Given the description of an element on the screen output the (x, y) to click on. 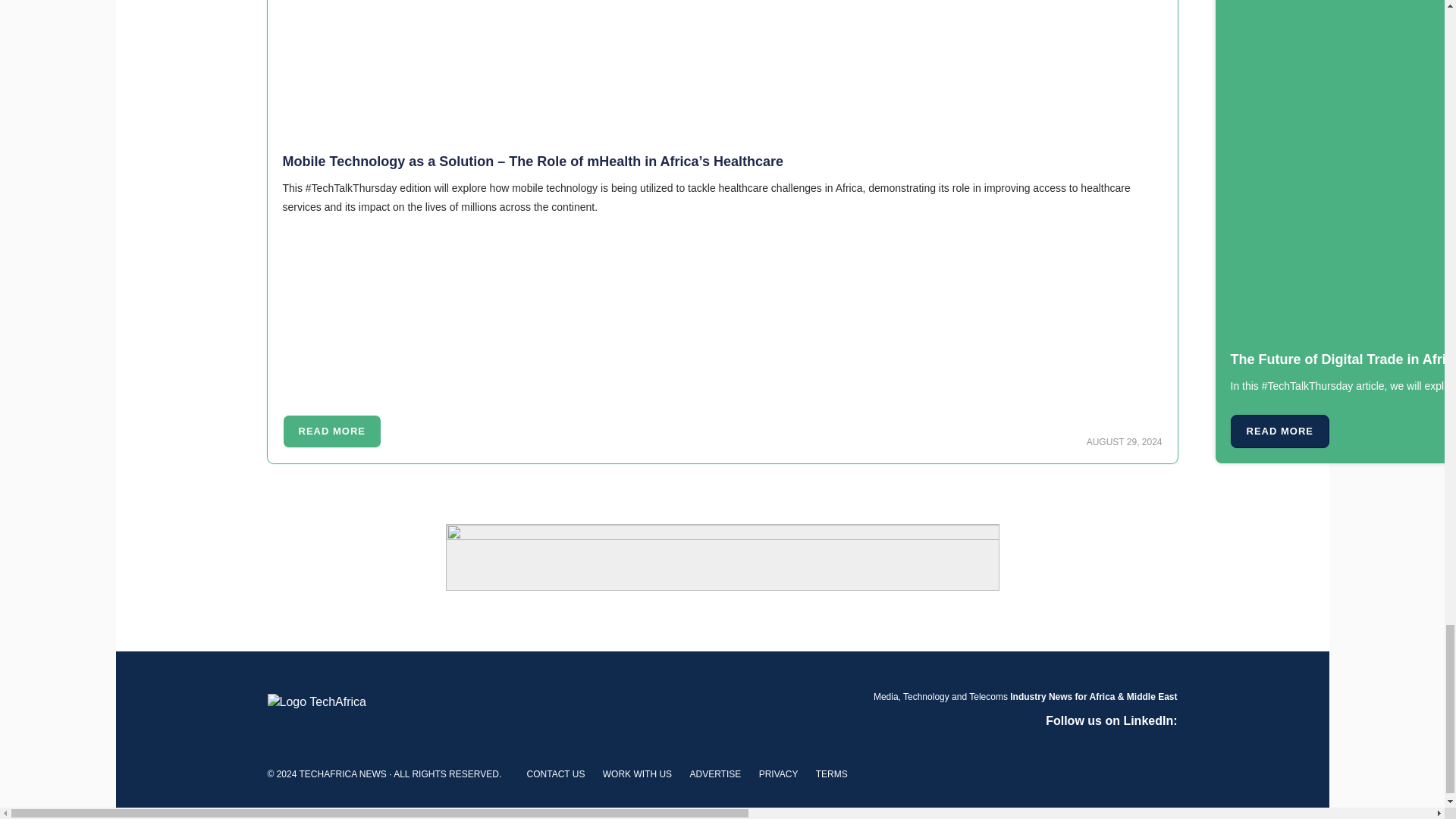
WORK WITH US (636, 774)
ADVERTISE (714, 774)
CONTACT US (556, 774)
TERMS (831, 774)
PRIVACY (777, 774)
